Given the description of an element on the screen output the (x, y) to click on. 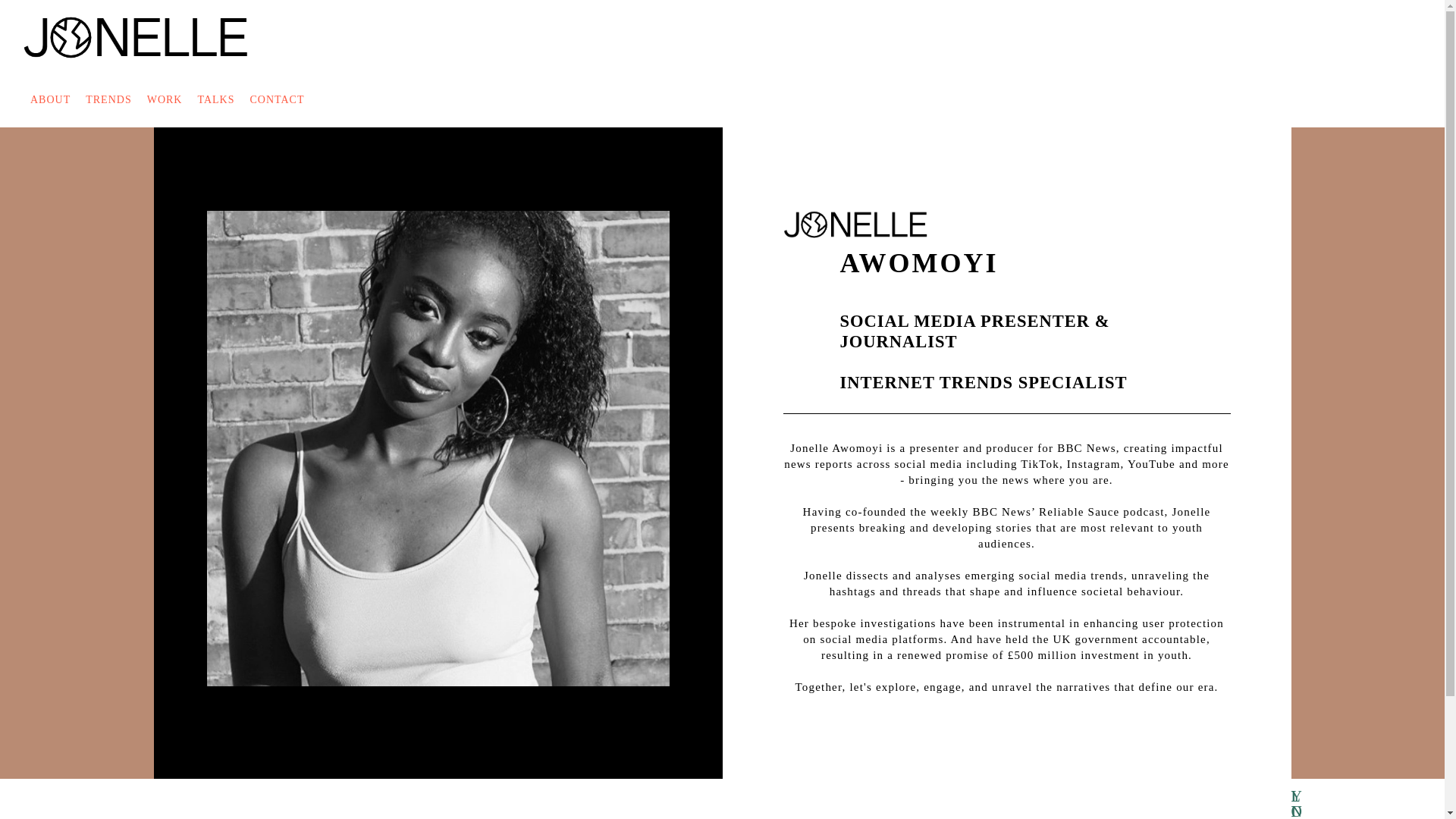
WORK (165, 100)
TRENDS (108, 100)
ABOUT (49, 100)
CONTACT (276, 100)
TALKS (215, 100)
